Given the description of an element on the screen output the (x, y) to click on. 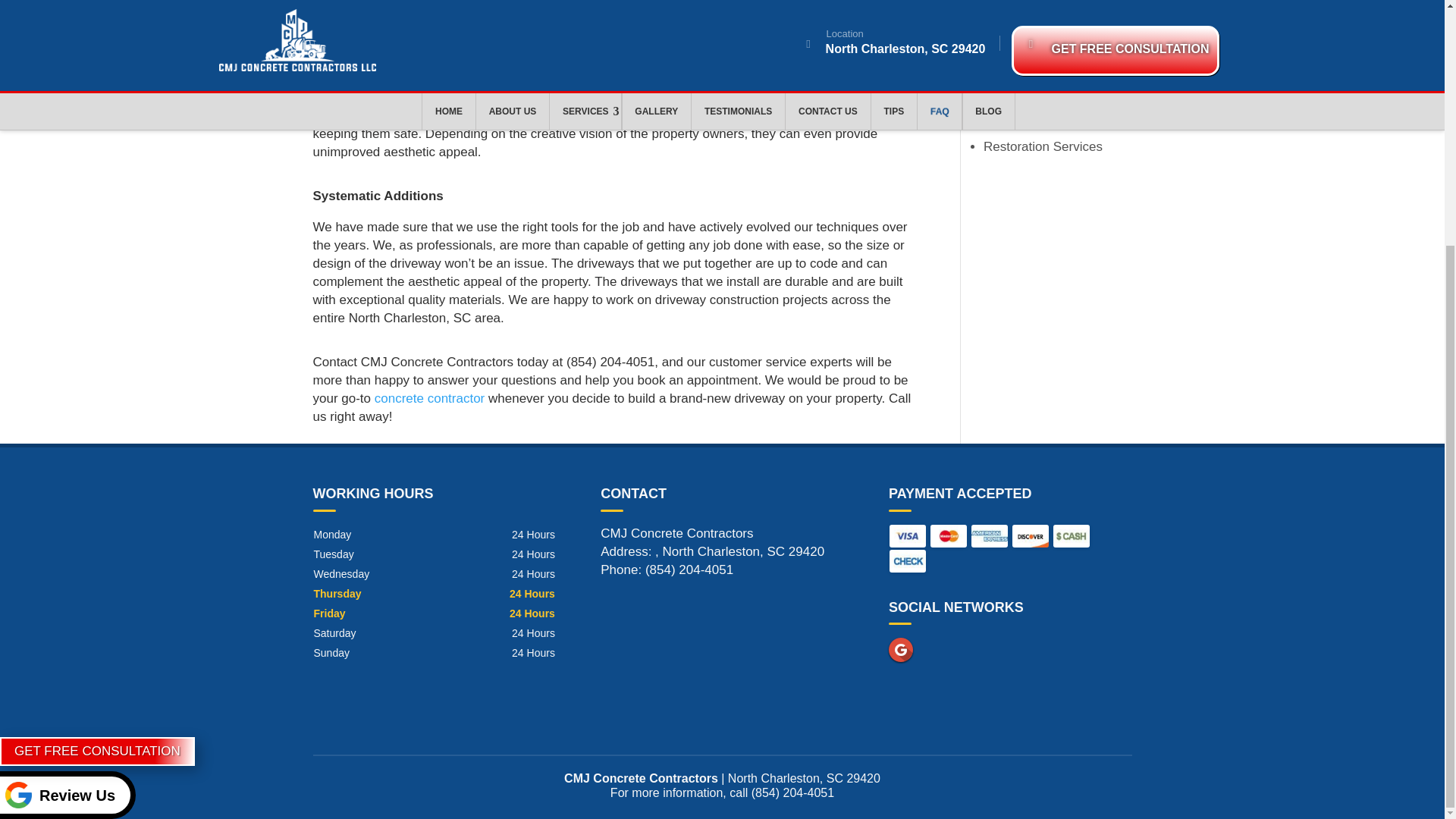
americanexpress payment accepted (989, 535)
cash payment accepted (1070, 535)
check payment accepted (907, 560)
mastercard payment accepted (948, 535)
google (900, 649)
Review Us (67, 453)
visa payment accepted (907, 535)
concrete contractor (429, 398)
Check company profile on google (900, 649)
GET FREE CONSULTATION (97, 410)
discover payment accepted (1029, 535)
